Given the description of an element on the screen output the (x, y) to click on. 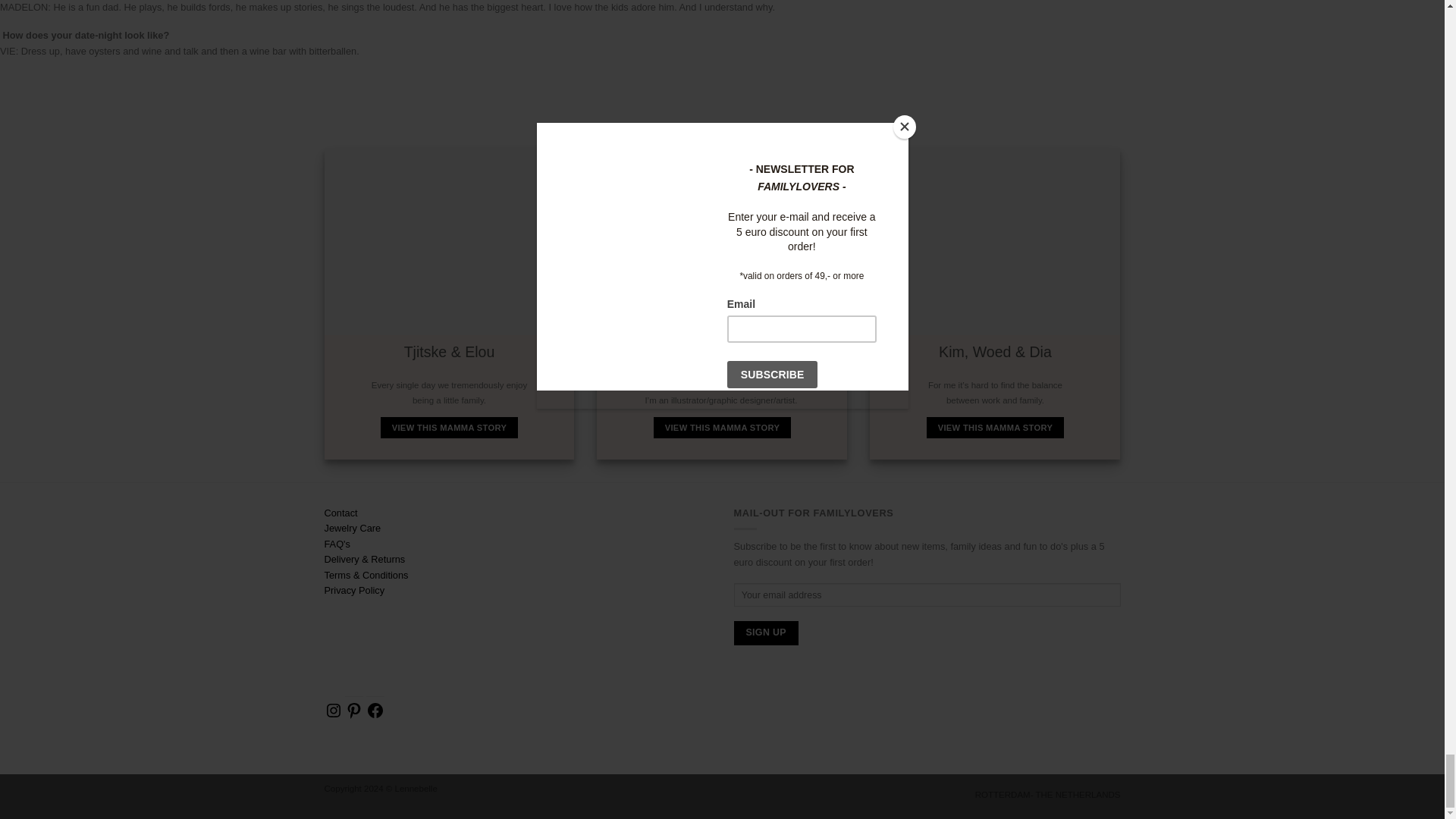
Sign up (765, 632)
